Given the description of an element on the screen output the (x, y) to click on. 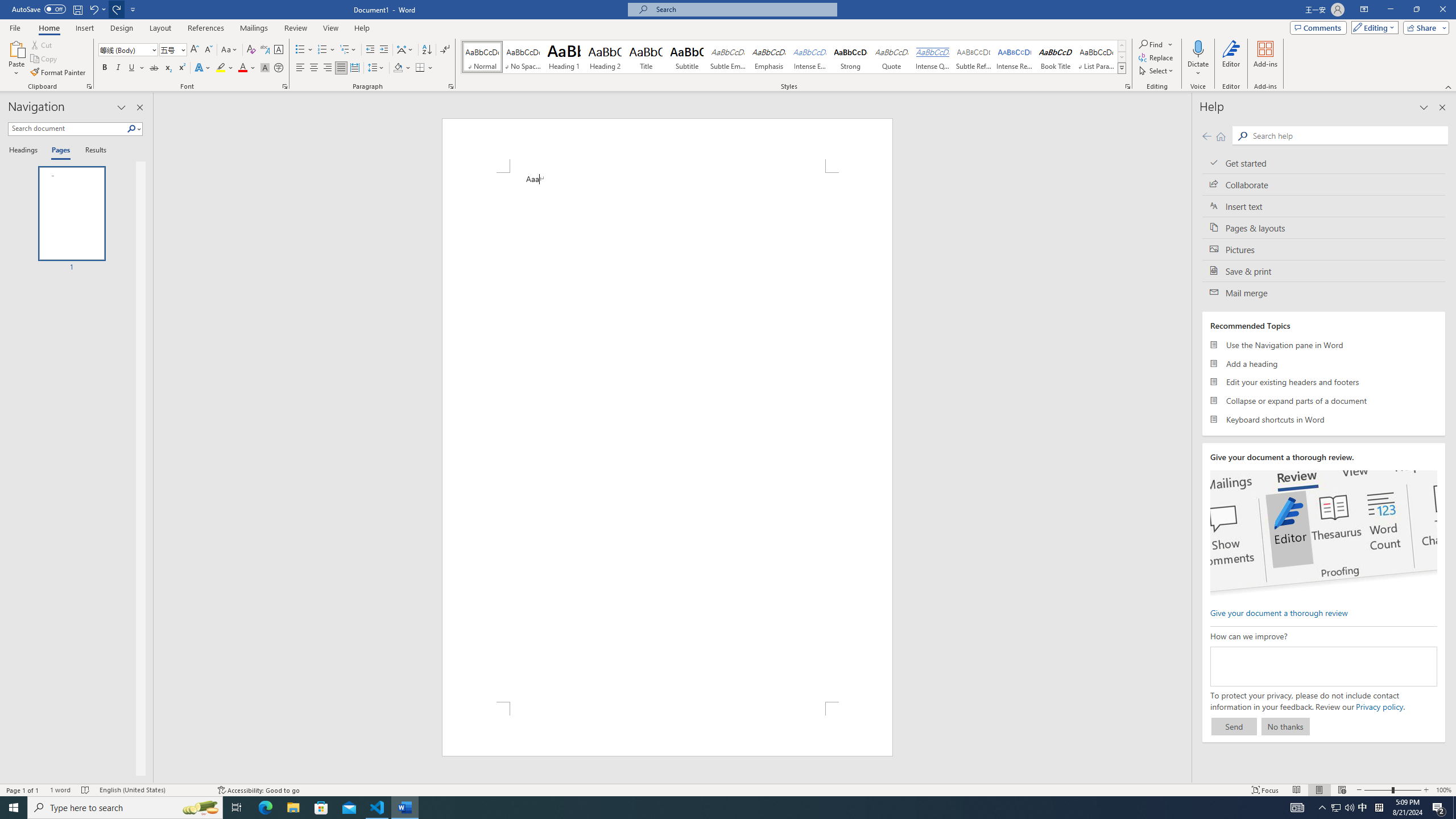
Language English (United States) (152, 790)
Format Painter (58, 72)
Class: NetUIScrollBar (1186, 437)
Results (91, 150)
Cut (42, 44)
Subtle Emphasis (727, 56)
Mode (1372, 27)
Page Number Page 1 of 1 (22, 790)
Page 1 content (667, 436)
Font Color Red (241, 67)
